Given the description of an element on the screen output the (x, y) to click on. 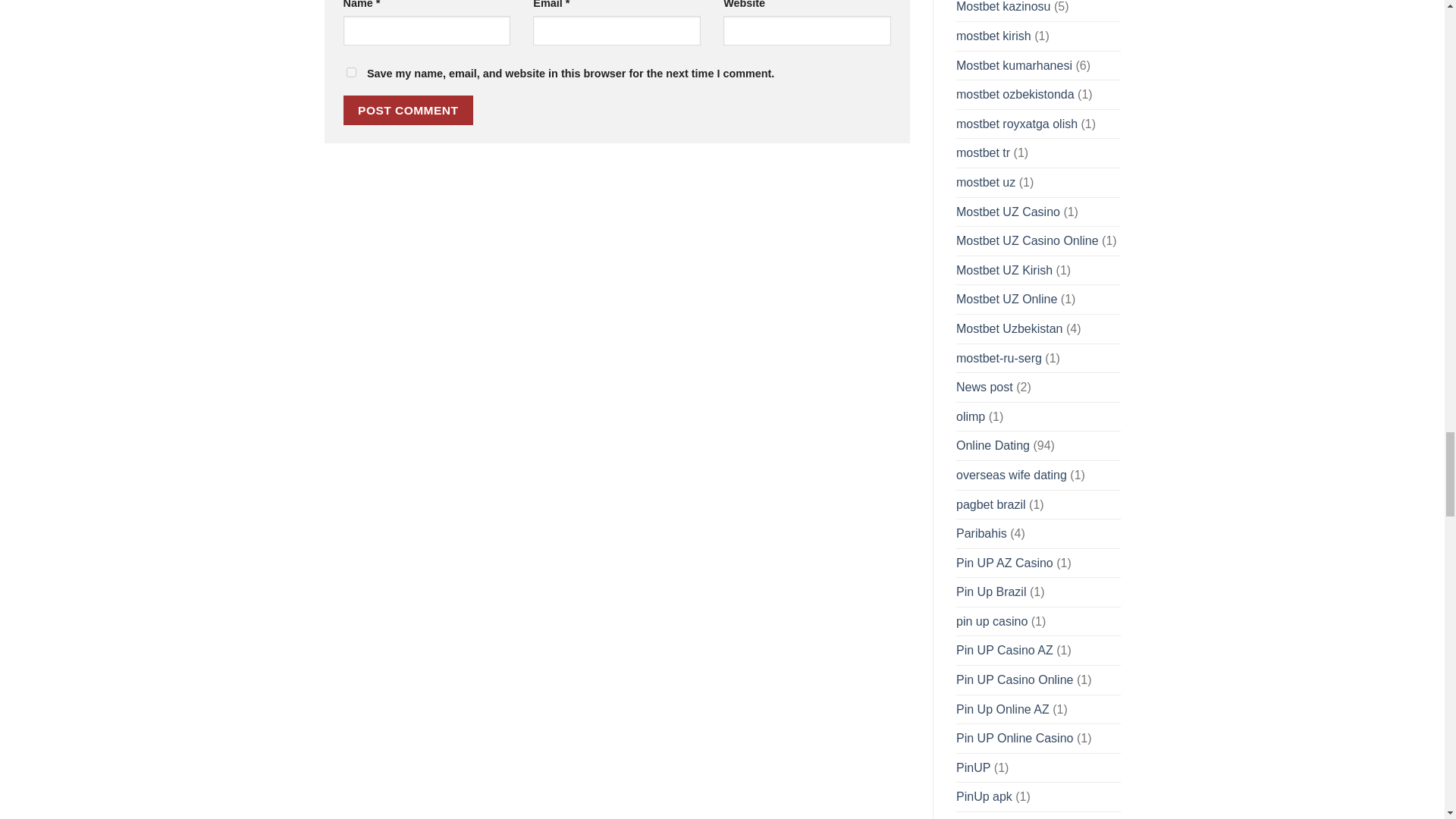
Post Comment (407, 110)
Post Comment (407, 110)
yes (350, 71)
